Given the description of an element on the screen output the (x, y) to click on. 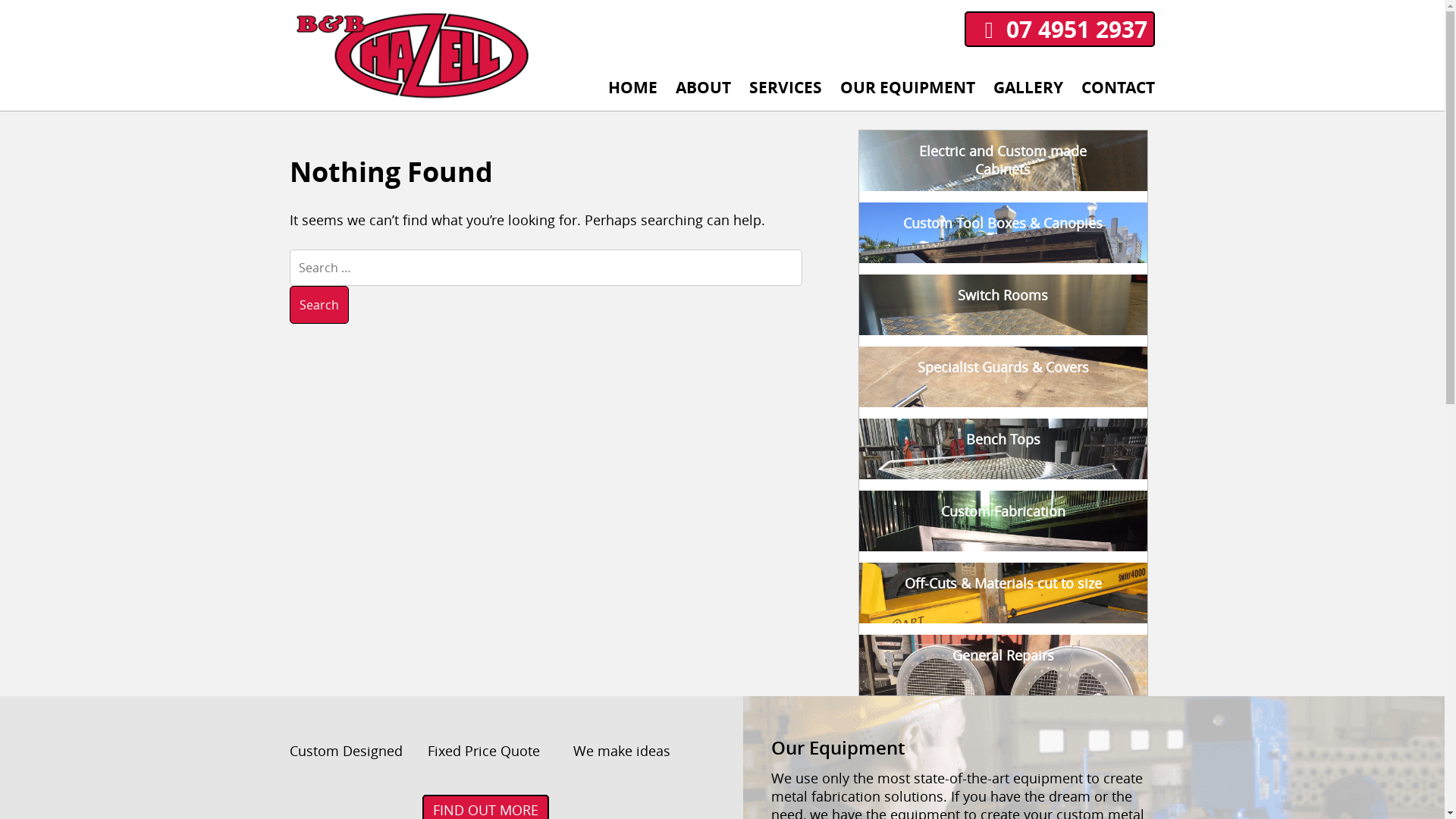
Bench Tops Element type: text (1003, 448)
Our Equipment Element type: text (969, 735)
07 4951 2937 Element type: text (1059, 29)
Electric and Custom made Cabinets Element type: text (1003, 160)
General Repairs Element type: text (1003, 664)
CONTACT Element type: text (1117, 87)
OUR EQUIPMENT Element type: text (907, 87)
BB Hazell Sheet Metal Element type: text (331, 193)
Custom Fabrication Element type: text (1003, 520)
SERVICES Element type: text (785, 87)
Off-Cuts & Materials cut to size Element type: text (1003, 592)
GALLERY Element type: text (1028, 87)
Custom Tool Boxes & Canopies Element type: text (1003, 232)
ABOUT Element type: text (703, 87)
Switch Rooms Element type: text (1003, 304)
HOME Element type: text (632, 87)
Search Element type: text (318, 304)
Specialist Guards & Covers Element type: text (1003, 376)
